Given the description of an element on the screen output the (x, y) to click on. 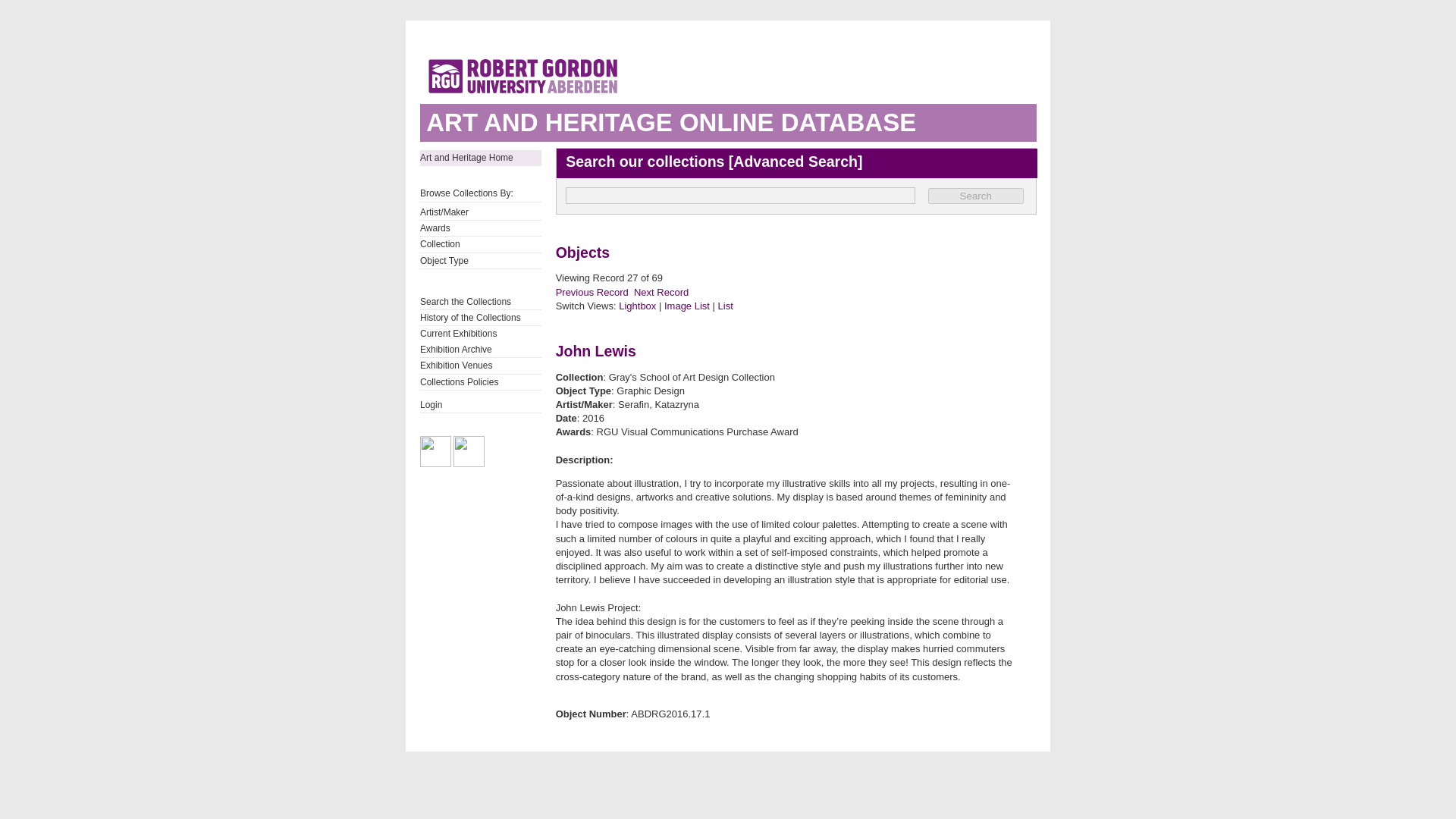
Collections Policies (480, 381)
History of the Collections (480, 317)
Enter Keyword (740, 195)
Exhibition Archive (480, 349)
List (725, 306)
Next Record (660, 292)
Awards (480, 227)
Exhibition Venues (480, 365)
Art and Heritage Home (480, 157)
Image List (686, 306)
Lightbox (637, 306)
Previous Record (592, 292)
Login (480, 404)
Collection (480, 243)
Advanced Search (795, 161)
